Given the description of an element on the screen output the (x, y) to click on. 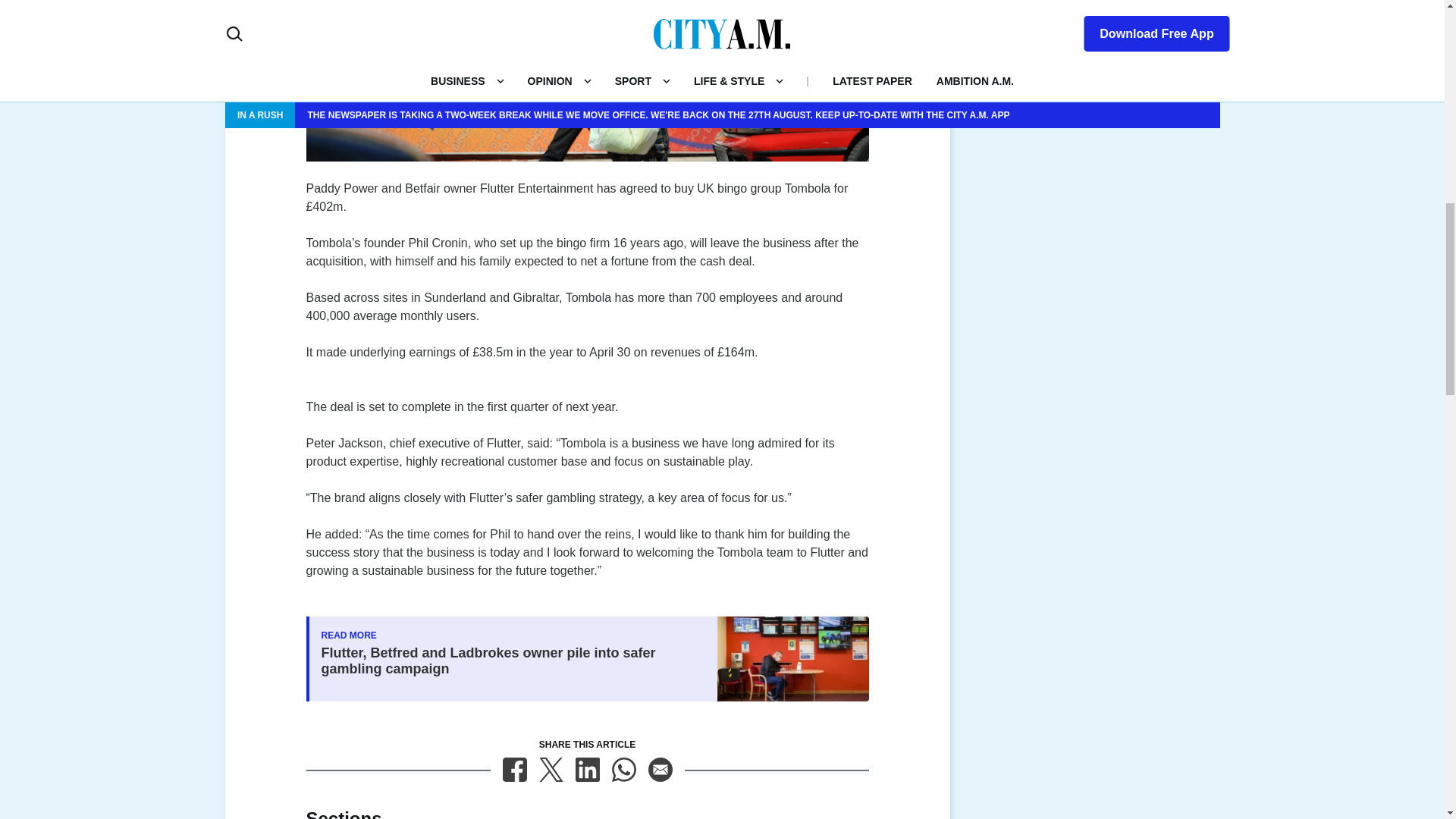
WhatsApp (622, 769)
LinkedIn (586, 769)
X (550, 769)
Email (659, 769)
Facebook (513, 769)
